Given the description of an element on the screen output the (x, y) to click on. 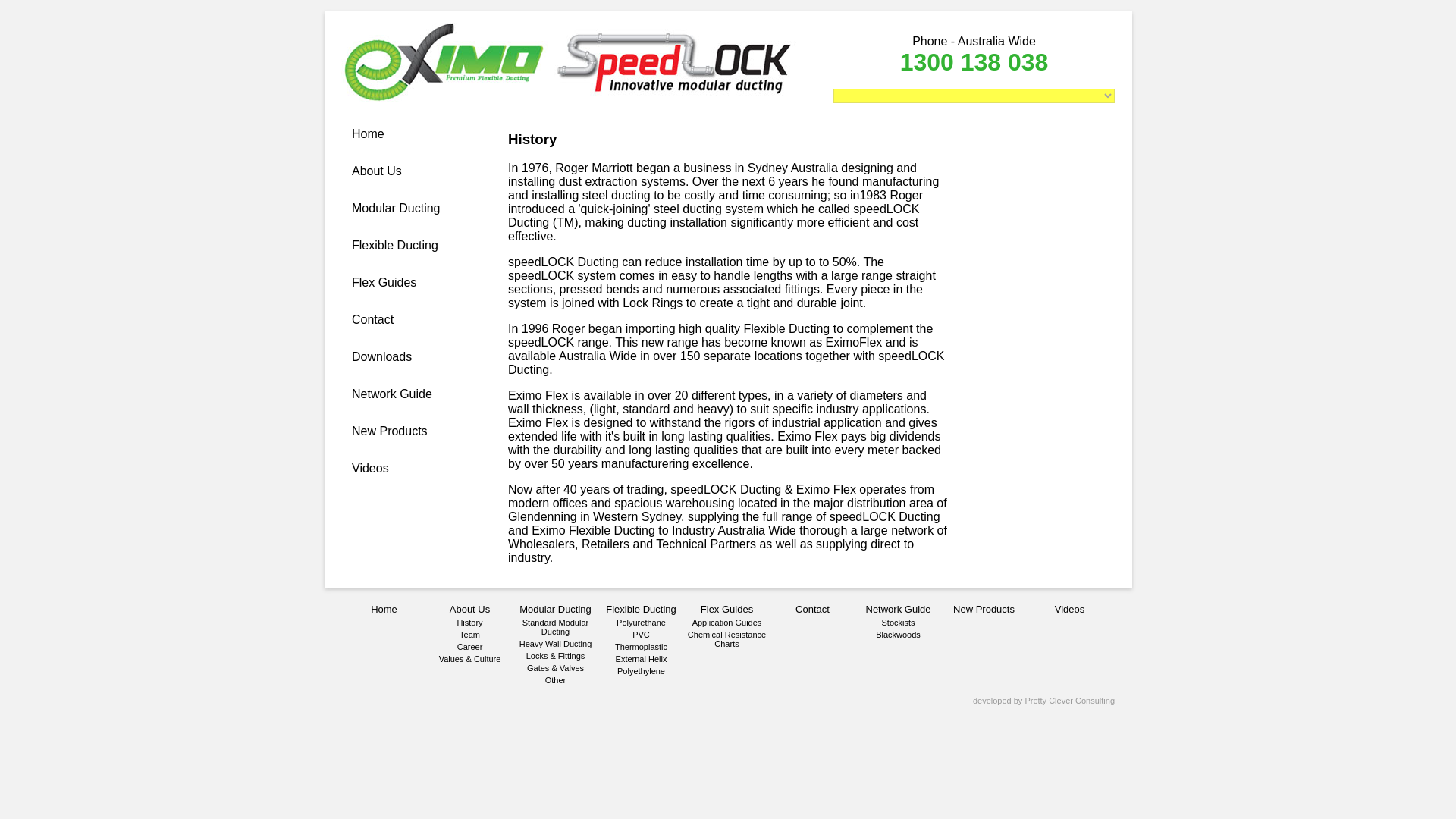
Team (470, 634)
History (469, 622)
About Us (376, 170)
Contact (372, 318)
Modular Ducting (396, 207)
Modular Ducting (555, 609)
Network Guide (392, 393)
About Us (469, 609)
Career (470, 646)
Videos (370, 468)
Flexible Ducting (395, 245)
Flex Guides (384, 282)
New Products (390, 431)
Downloads (382, 356)
Home (384, 609)
